Given the description of an element on the screen output the (x, y) to click on. 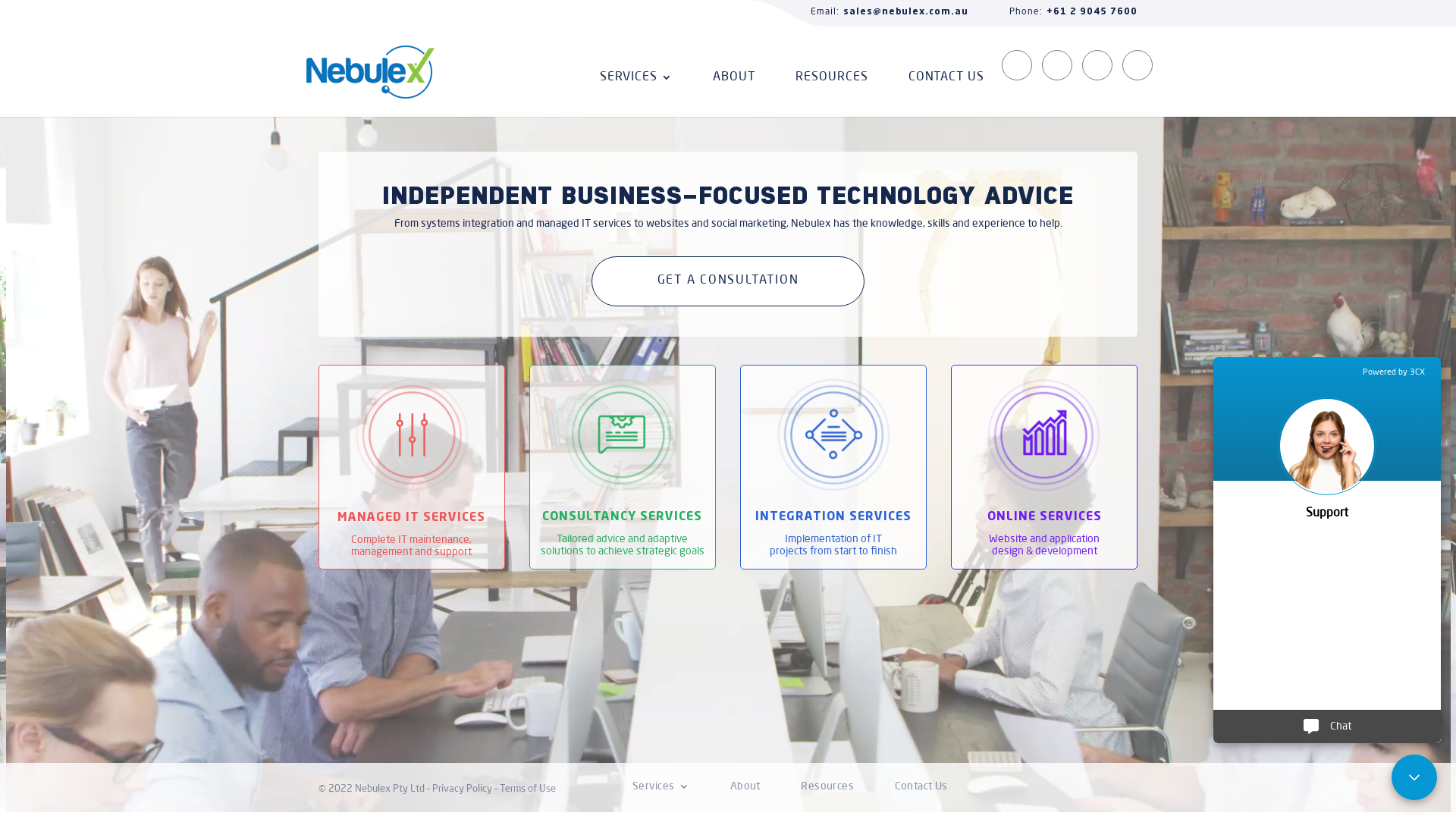
RESOURCES Element type: text (831, 94)
Services Element type: text (660, 786)
Terms of Use Element type: text (527, 788)
Privacy Policy Element type: text (462, 788)
Contact Us Element type: text (920, 786)
GET A CONSULTATION Element type: text (727, 281)
CONTACT US Element type: text (946, 94)
ABOUT Element type: text (733, 94)
About Element type: text (745, 786)
Email:sales@nebulex.com.au Element type: text (870, 11)
Resources Element type: text (826, 786)
Phone:+61 2 9045 7600 Element type: text (1054, 11)
SERVICES Element type: text (635, 94)
ONLINE SERVICES
Website and application
design & development Element type: text (1043, 466)
